Given the description of an element on the screen output the (x, y) to click on. 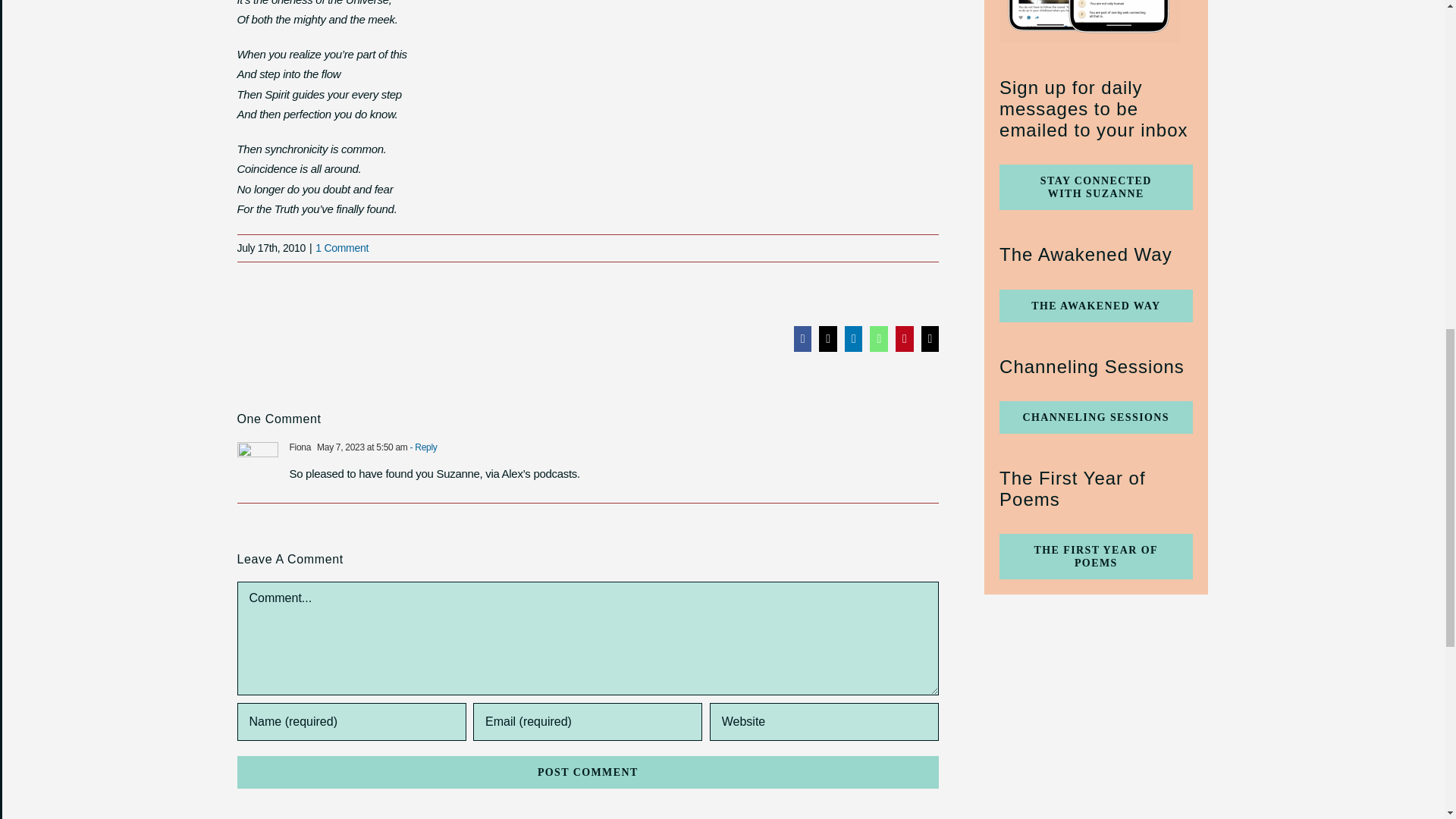
Post Comment (587, 771)
